Given the description of an element on the screen output the (x, y) to click on. 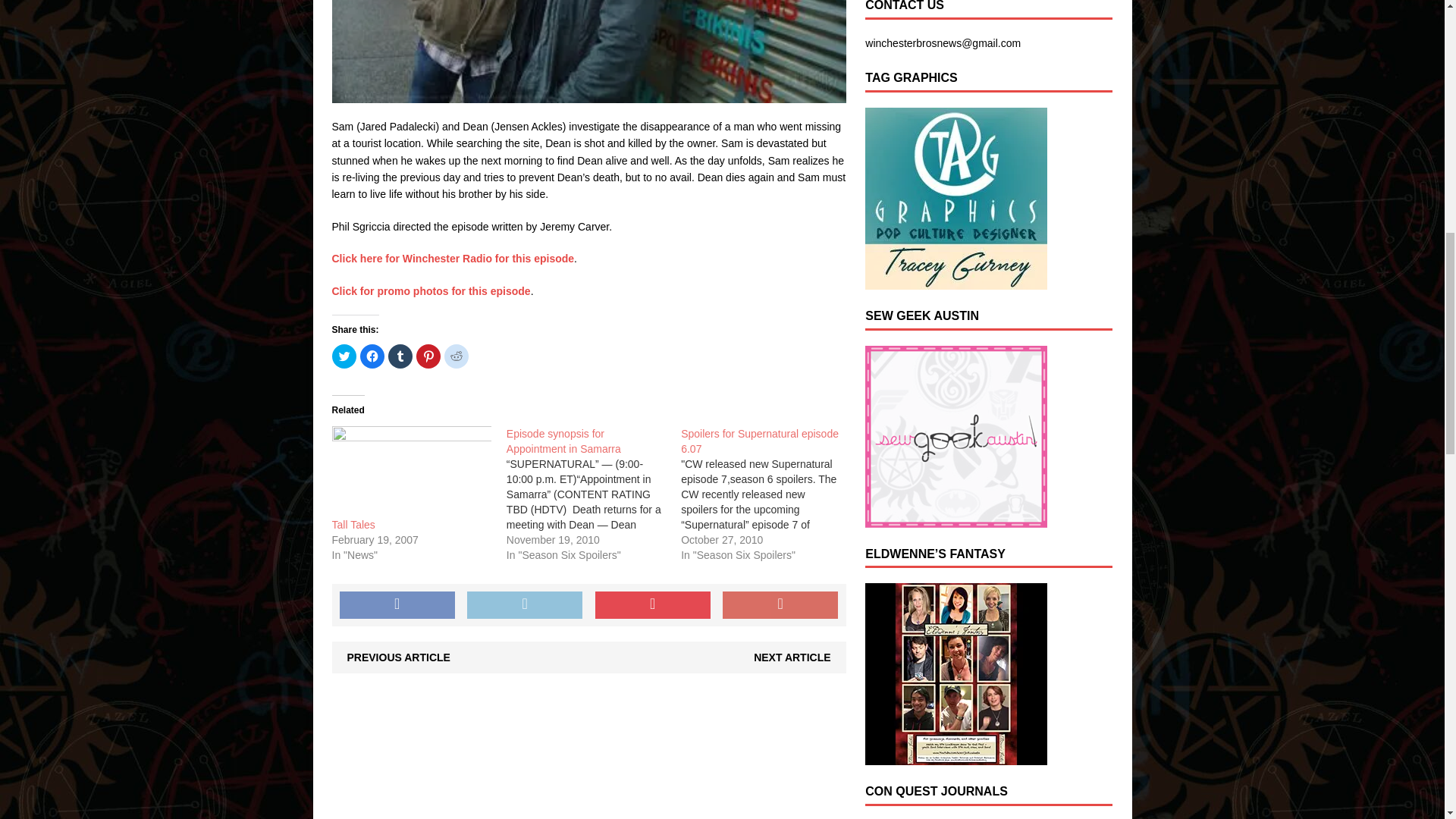
Click to share on Twitter (343, 355)
Click to share on Facebook (371, 355)
Tall Tales (411, 470)
Click to share on Tumblr (400, 355)
310 (588, 51)
Click to share on Pinterest (426, 355)
Click to share on Reddit (456, 355)
